Given the description of an element on the screen output the (x, y) to click on. 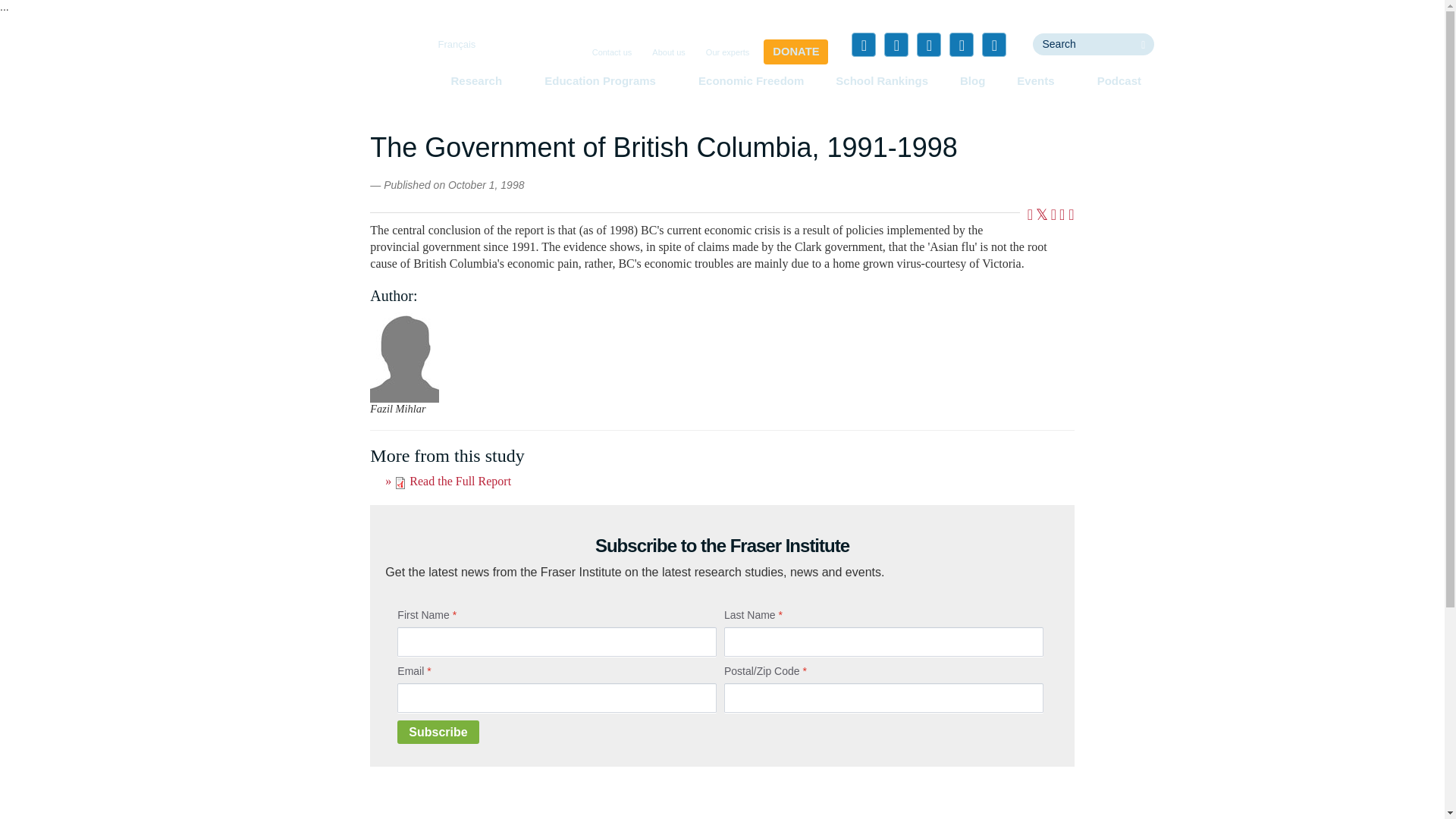
Twitter (895, 44)
Instagram (993, 44)
Research (481, 80)
School Rankings (882, 80)
DONATE (795, 51)
Home (352, 71)
About us (668, 52)
YouTube (961, 44)
Our experts (727, 52)
Contact us (612, 52)
LinkedIn (928, 44)
Enter the terms you wish to search for. (1082, 44)
Facebook (863, 44)
